Given the description of an element on the screen output the (x, y) to click on. 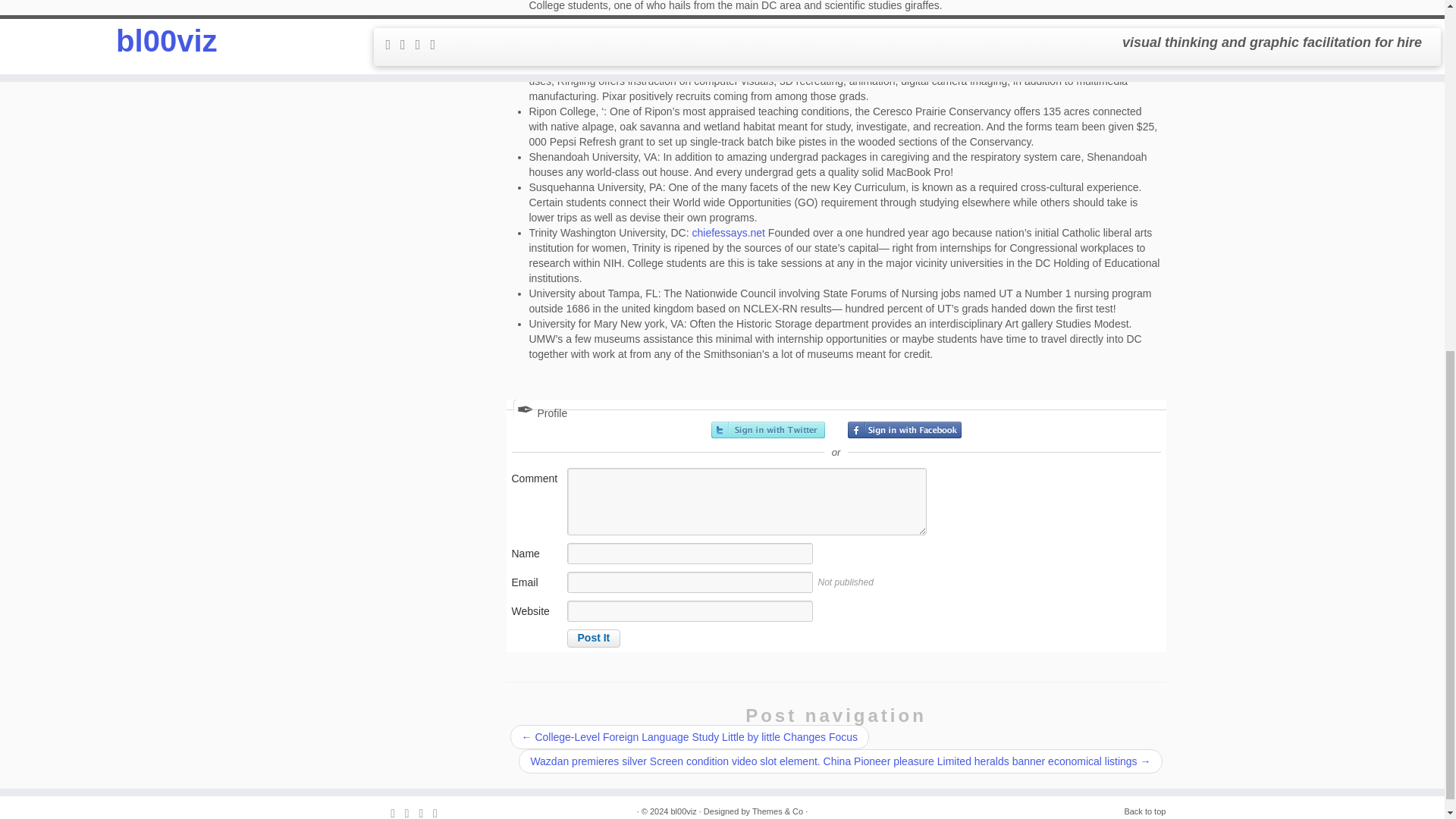
Sign in with Twitter (768, 429)
bl00viz (682, 810)
chiefessays.net (728, 232)
Back to top (1145, 810)
Post It (594, 638)
Post It (594, 638)
Sign in with Facebook (903, 429)
